Given the description of an element on the screen output the (x, y) to click on. 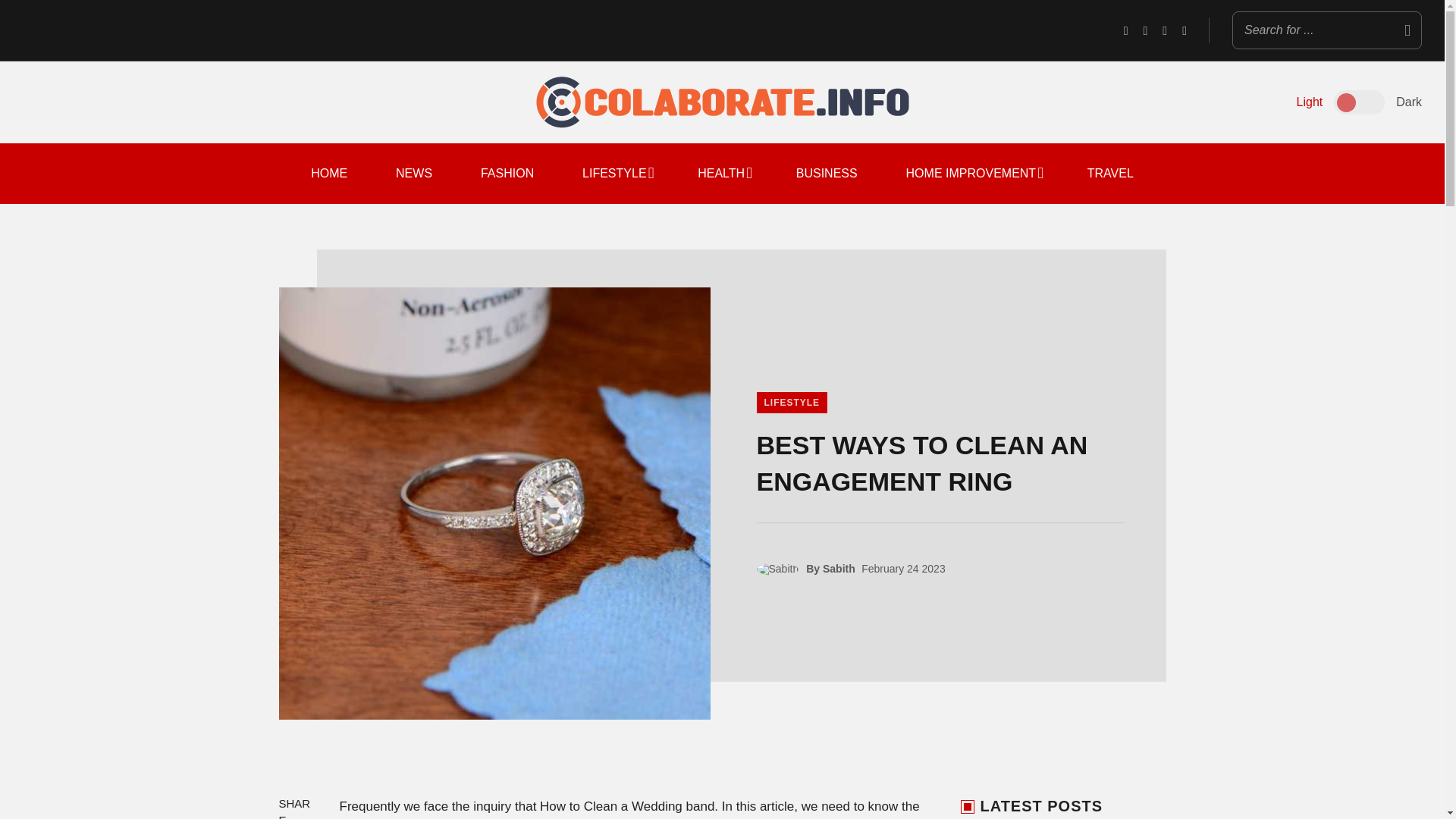
By Sabith (831, 568)
HOME IMPROVEMENT (972, 173)
Posts bySabith (781, 568)
February 24, 2023 at 1:03 pm (902, 568)
LIFESTYLE (615, 173)
LIFESTYLE (792, 402)
BUSINESS (826, 173)
